Given the description of an element on the screen output the (x, y) to click on. 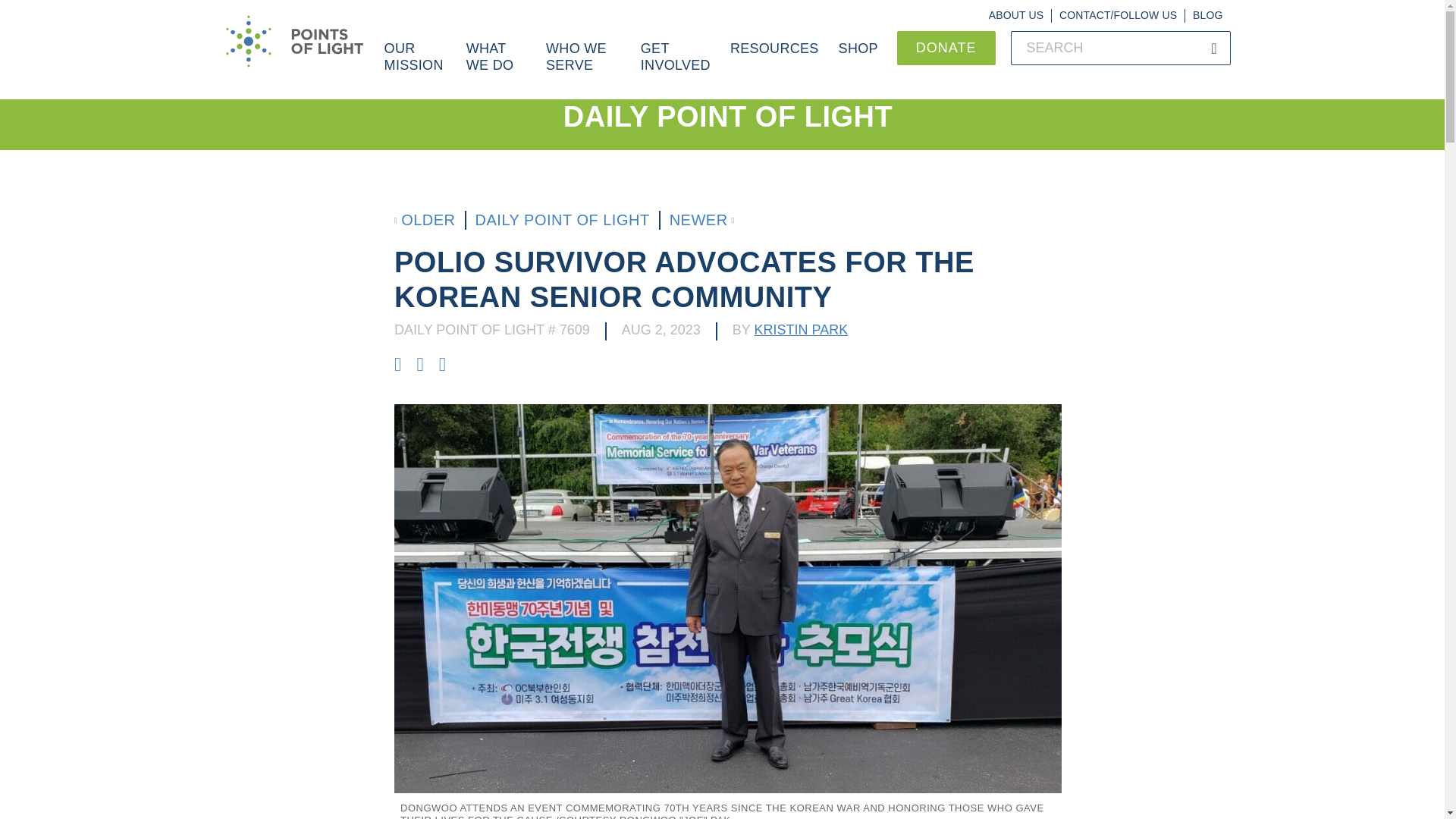
ABOUT US (1016, 15)
WHAT WE DO (496, 65)
OUR MISSION (415, 65)
WHO WE SERVE (582, 65)
BLOG (1207, 15)
